Given the description of an element on the screen output the (x, y) to click on. 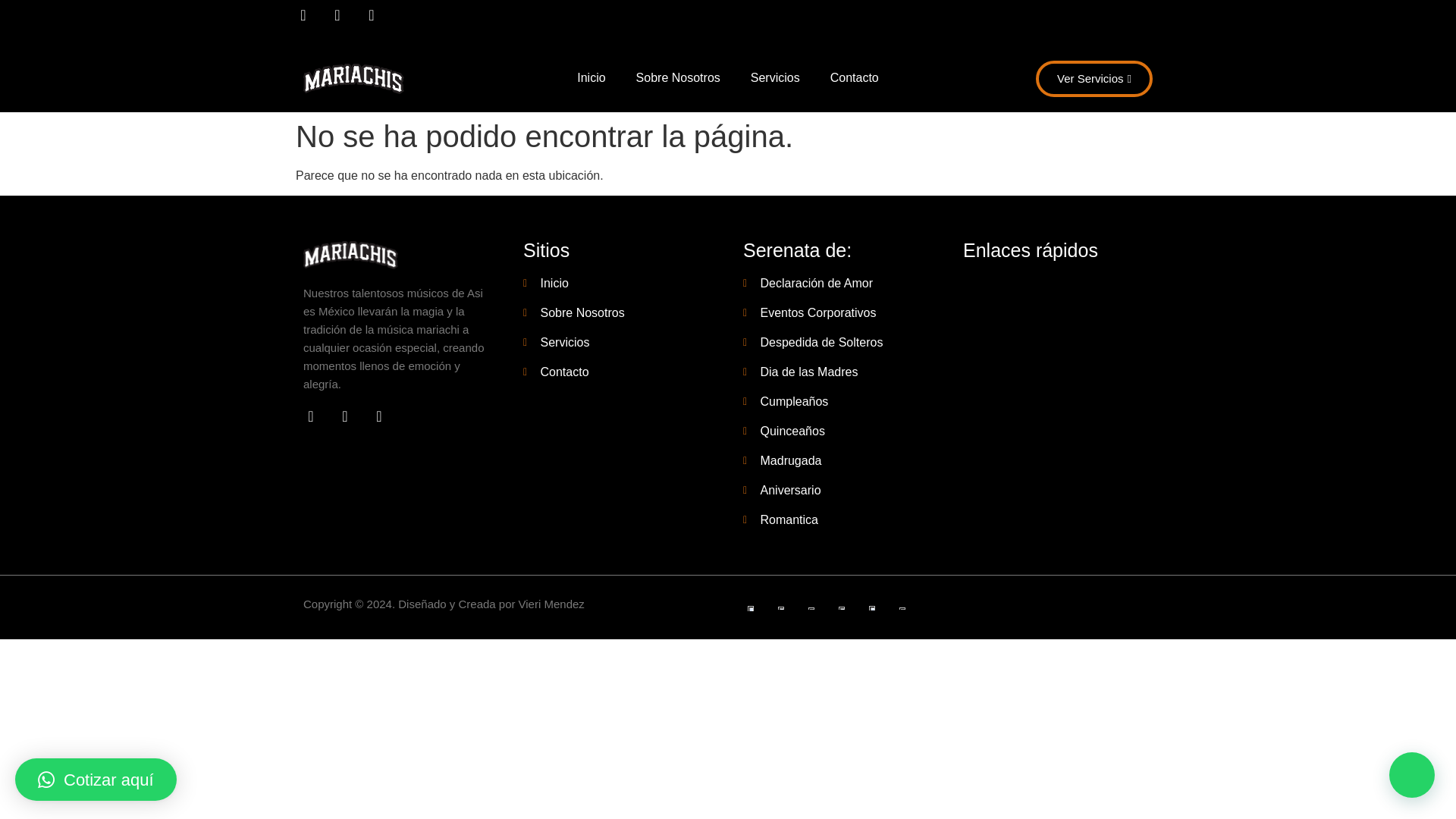
Inicio (617, 283)
Ver Servicios (1094, 78)
Servicios (617, 342)
Contacto (617, 372)
Contacto (854, 77)
Inicio (591, 77)
Vieri Mendez (551, 603)
Sobre Nosotros (678, 77)
Sobre Nosotros (617, 312)
Servicios (775, 77)
